Given the description of an element on the screen output the (x, y) to click on. 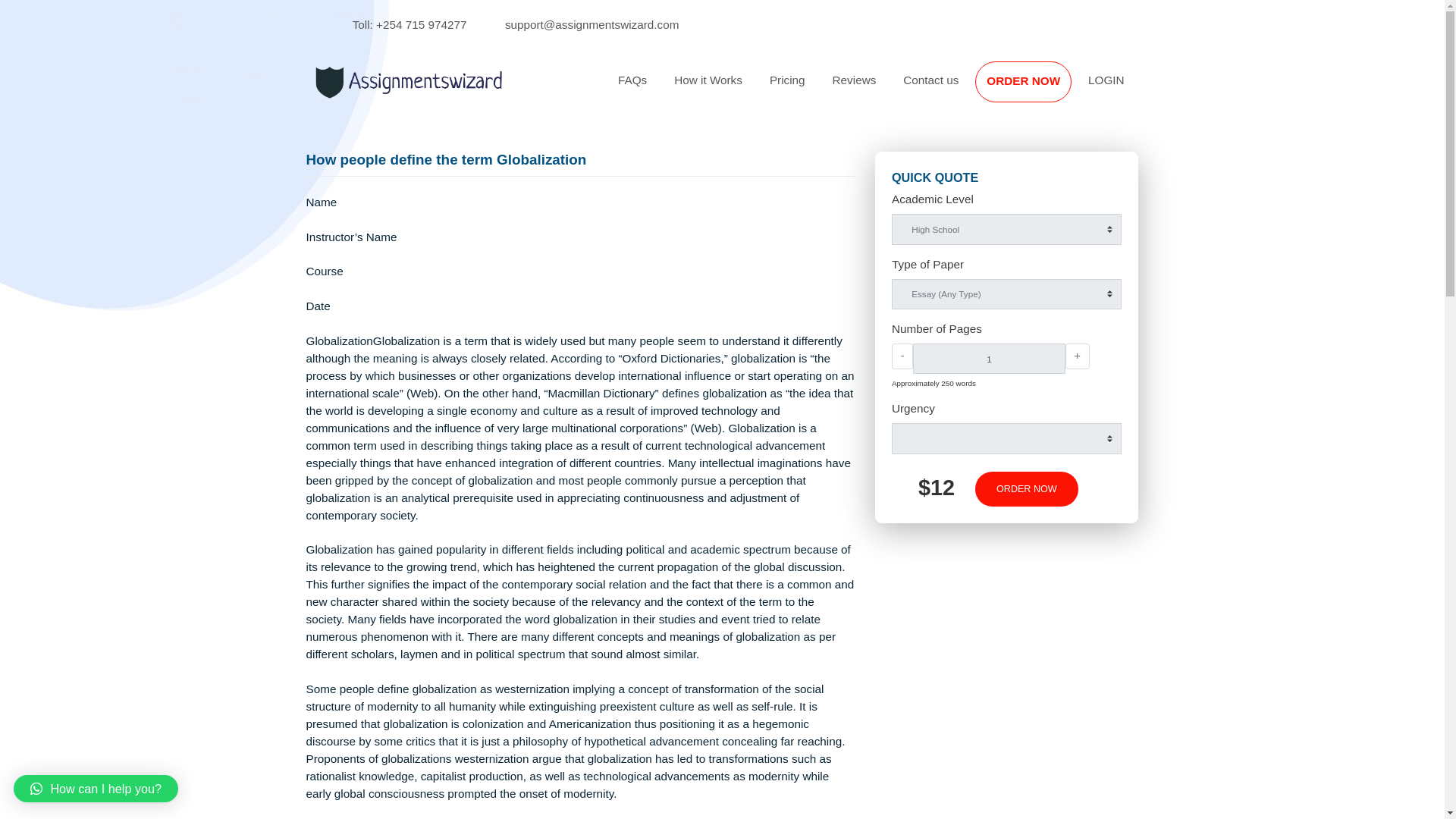
1 (1098, 398)
How it Works (786, 89)
ORDER NOW (1140, 542)
Pricing (875, 89)
Contact us (1034, 89)
Pricing (875, 89)
Reviews (948, 89)
FAQs (702, 89)
LOGIN (1229, 89)
LOGIN (1229, 89)
